Given the description of an element on the screen output the (x, y) to click on. 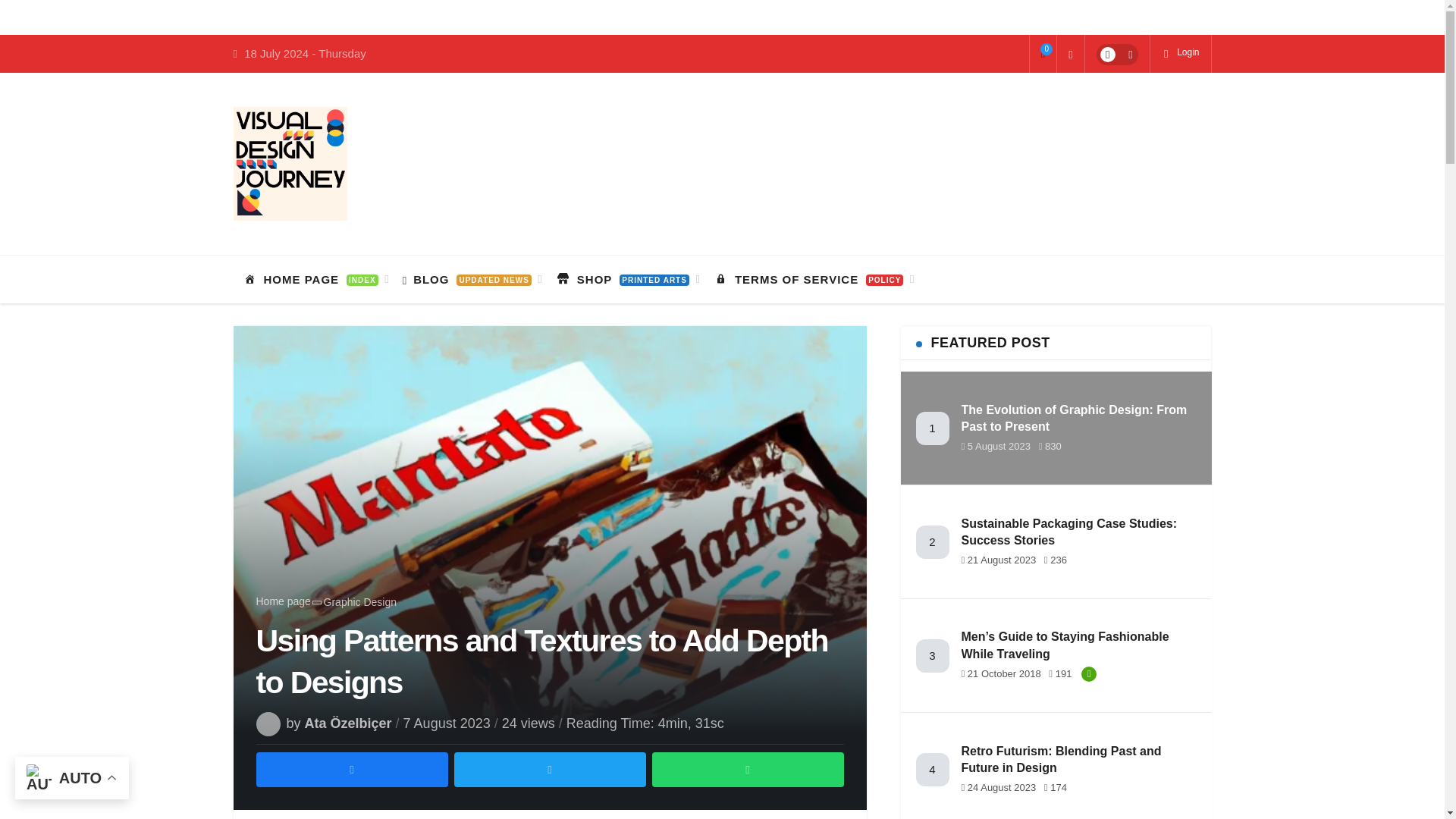
Share to Twitter (548, 769)
Share to Whatsapp (748, 769)
TERMS OF SERVICEPOLICY (811, 279)
BLOGUPDATED NEWS (470, 279)
HOME PAGEINDEX (312, 279)
Share to Facebook (352, 769)
SHOPPRINTED ARTS (625, 279)
Visual Design Journey (289, 163)
Login (1180, 53)
